Given the description of an element on the screen output the (x, y) to click on. 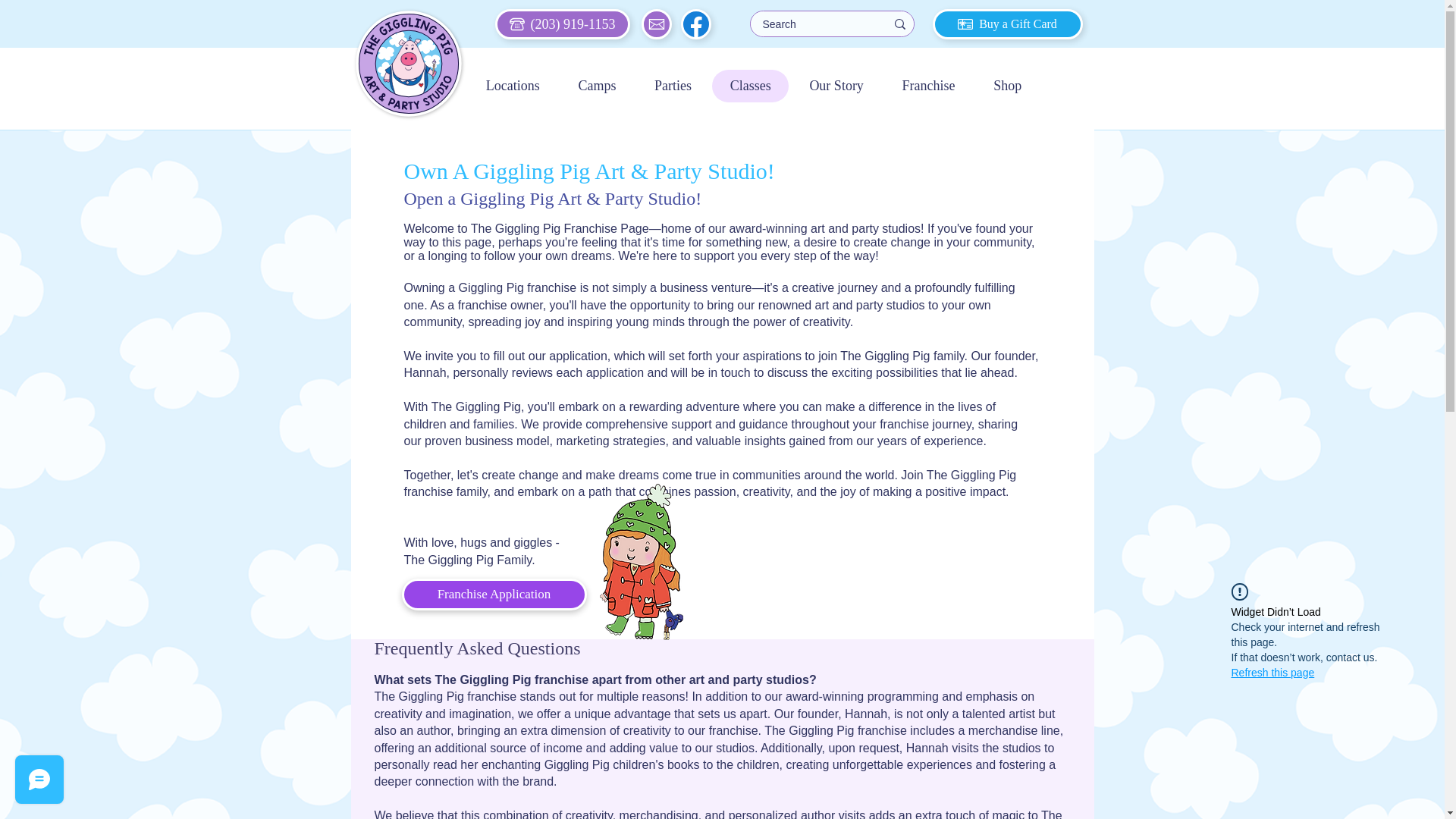
Classes (750, 85)
Franchise Application (493, 594)
Franchise (753, 85)
Shop (927, 85)
Our Story (1007, 85)
Refresh this page (836, 85)
Buy a Gift Card (1272, 672)
Wix Chat (1008, 24)
